Given the description of an element on the screen output the (x, y) to click on. 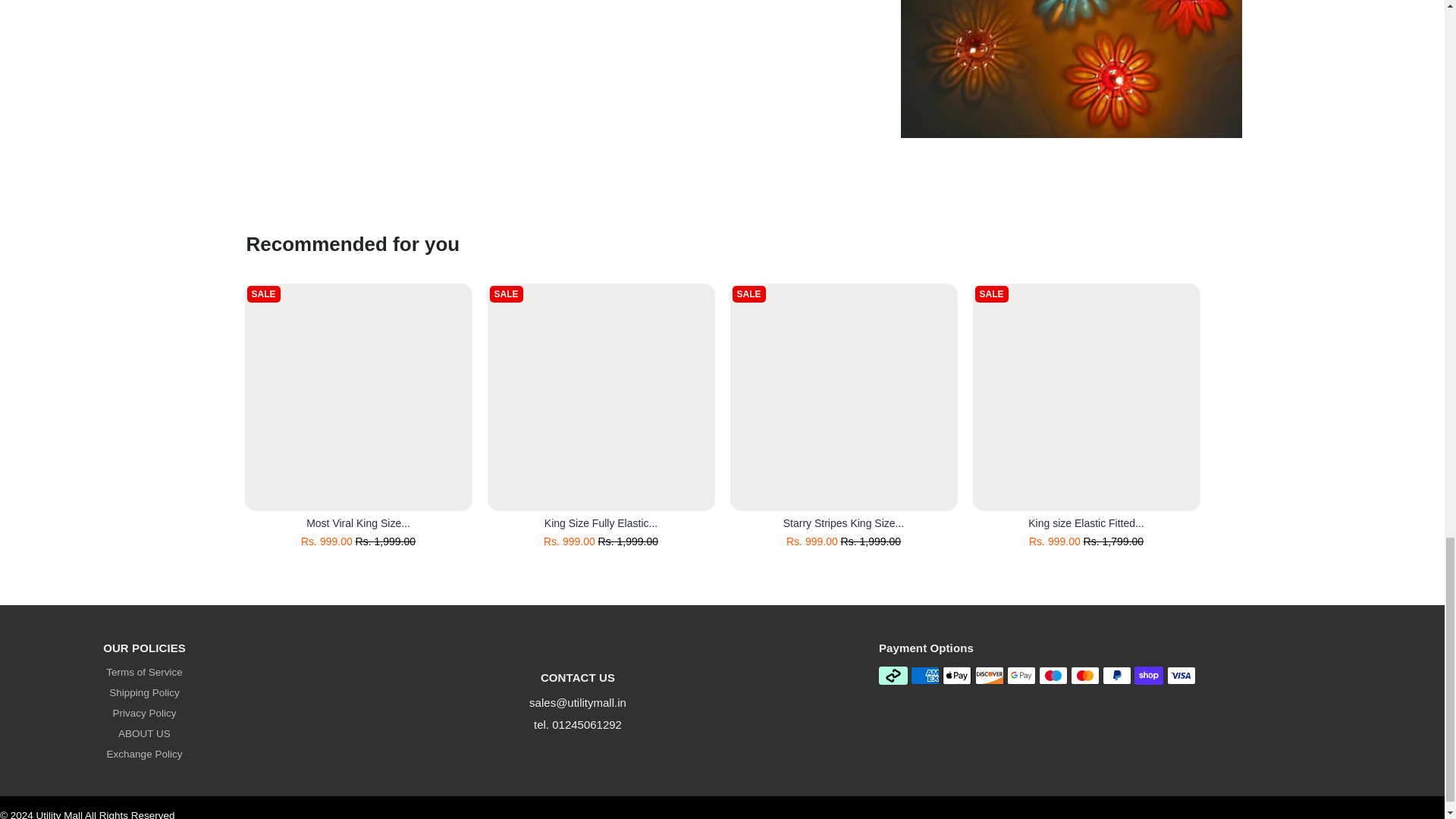
Afterpay (893, 675)
ABOUT US (144, 733)
PayPal (1116, 675)
SALE (842, 397)
Google Pay (1021, 675)
SALE (600, 397)
Maestro (1053, 675)
Shipping Policy (144, 692)
Most Viral King Size... (357, 522)
SALE (357, 397)
